Given the description of an element on the screen output the (x, y) to click on. 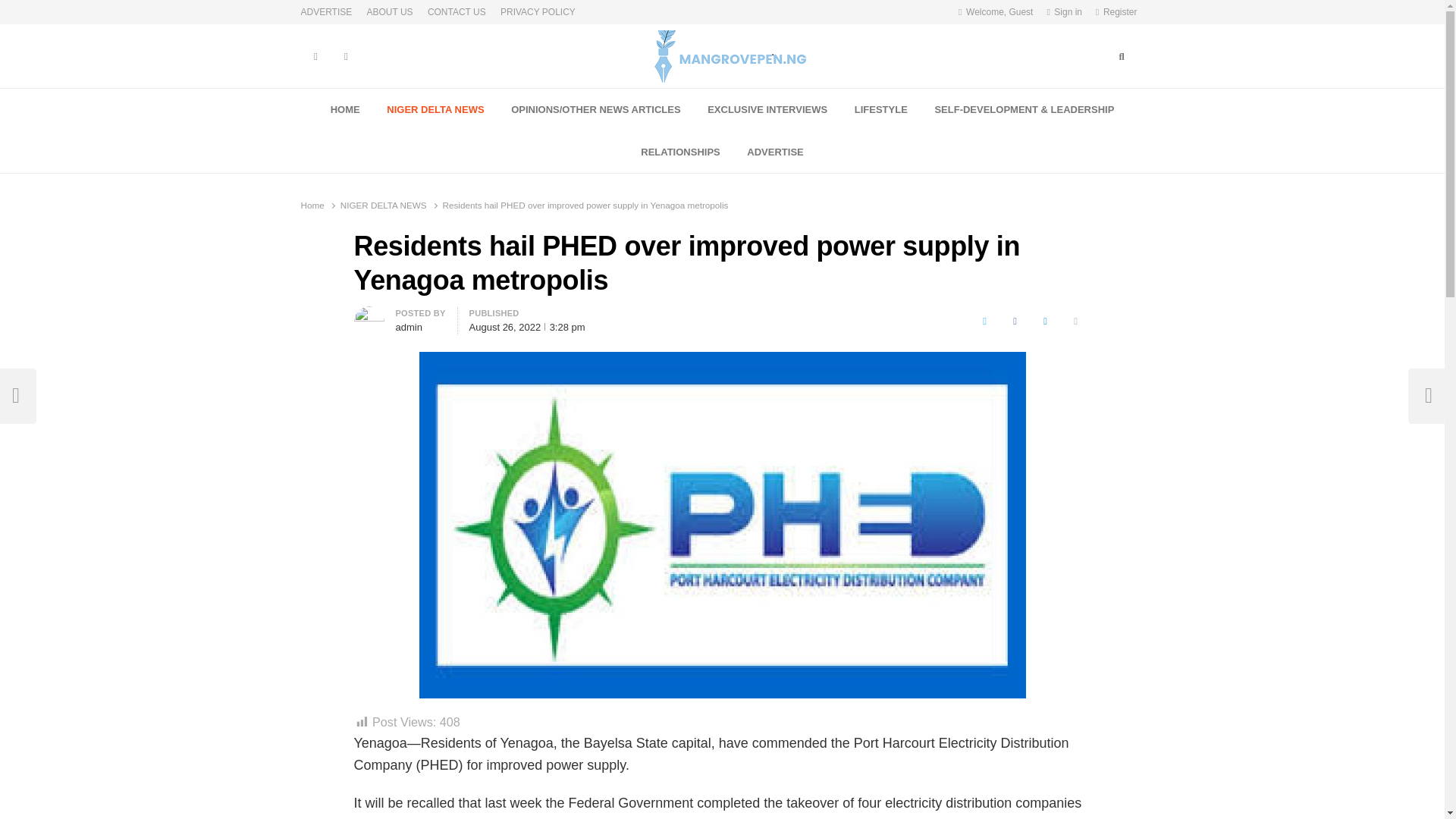
LIFESTYLE (881, 109)
PRIVACY POLICY (537, 12)
ADVERTISE (328, 12)
Twitter (984, 321)
Facebook (1015, 321)
EXCLUSIVE INTERVIEWS (767, 109)
Mangrove Pen (608, 92)
Register (1116, 12)
Sign in (1064, 12)
Register for a new account (1116, 12)
Log In (1042, 171)
